Given the description of an element on the screen output the (x, y) to click on. 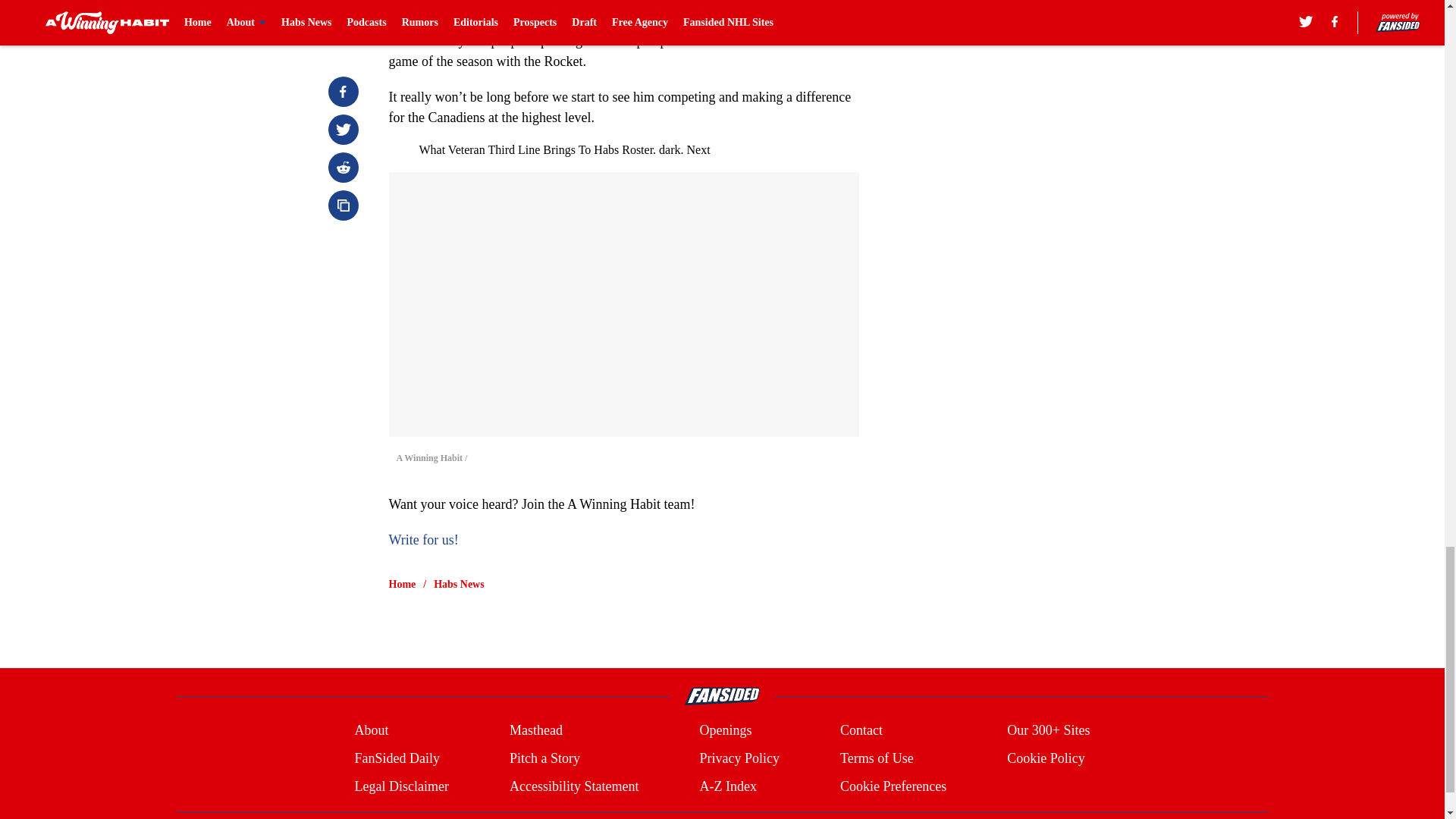
Terms of Use (877, 758)
Write for us! (423, 539)
Cookie Policy (1045, 758)
Home (401, 584)
Pitch a Story (544, 758)
About (370, 730)
Masthead (535, 730)
Habs News (458, 584)
Contact (861, 730)
Privacy Policy (738, 758)
Openings (724, 730)
Legal Disclaimer (400, 786)
FanSided Daily (396, 758)
